Given the description of an element on the screen output the (x, y) to click on. 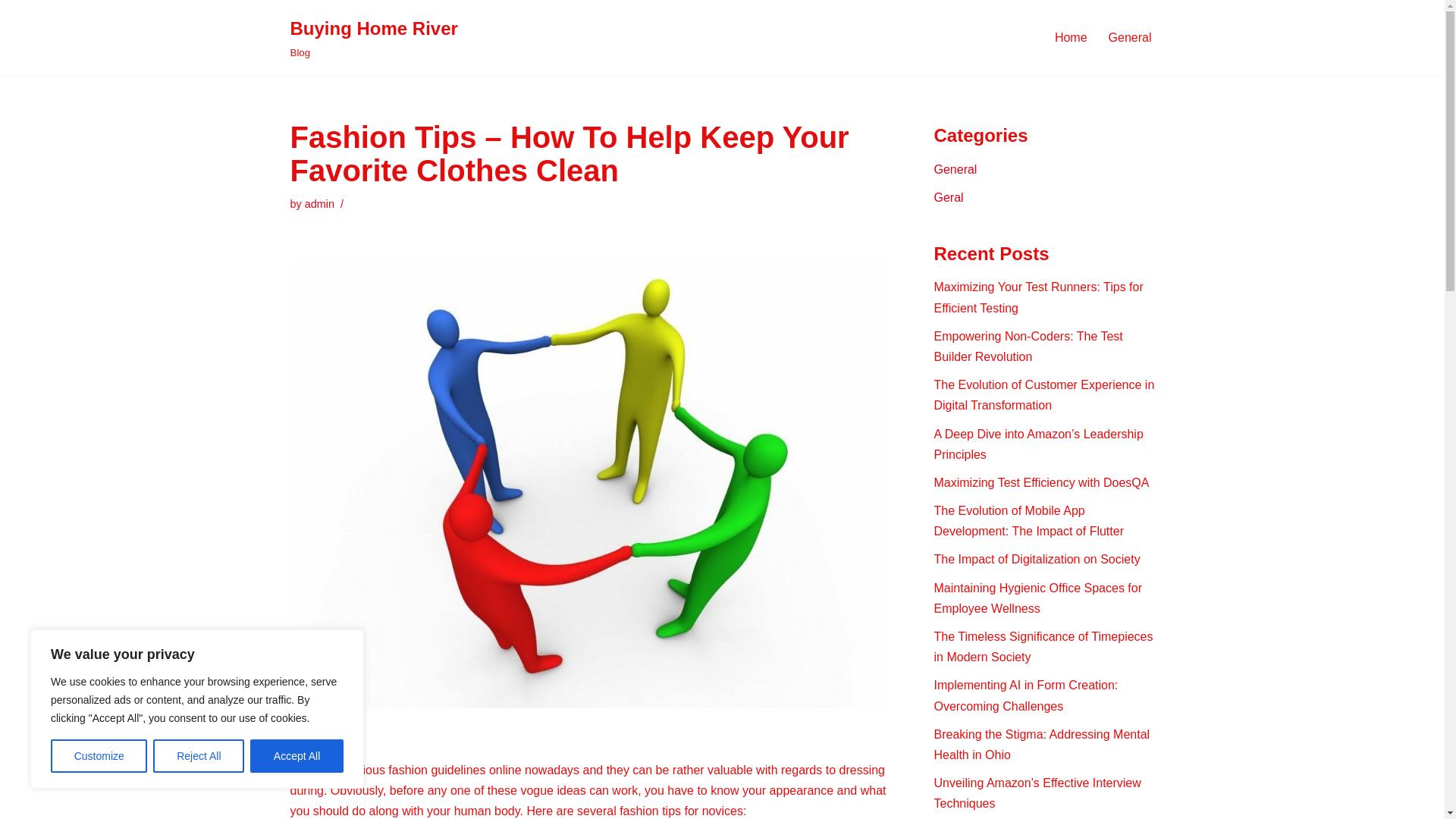
admin (319, 203)
Reject All (198, 756)
Skip to content (11, 31)
General (373, 37)
Home (955, 169)
Accept All (1070, 37)
Posts by admin (296, 756)
General (319, 203)
Geral (1129, 37)
